Given the description of an element on the screen output the (x, y) to click on. 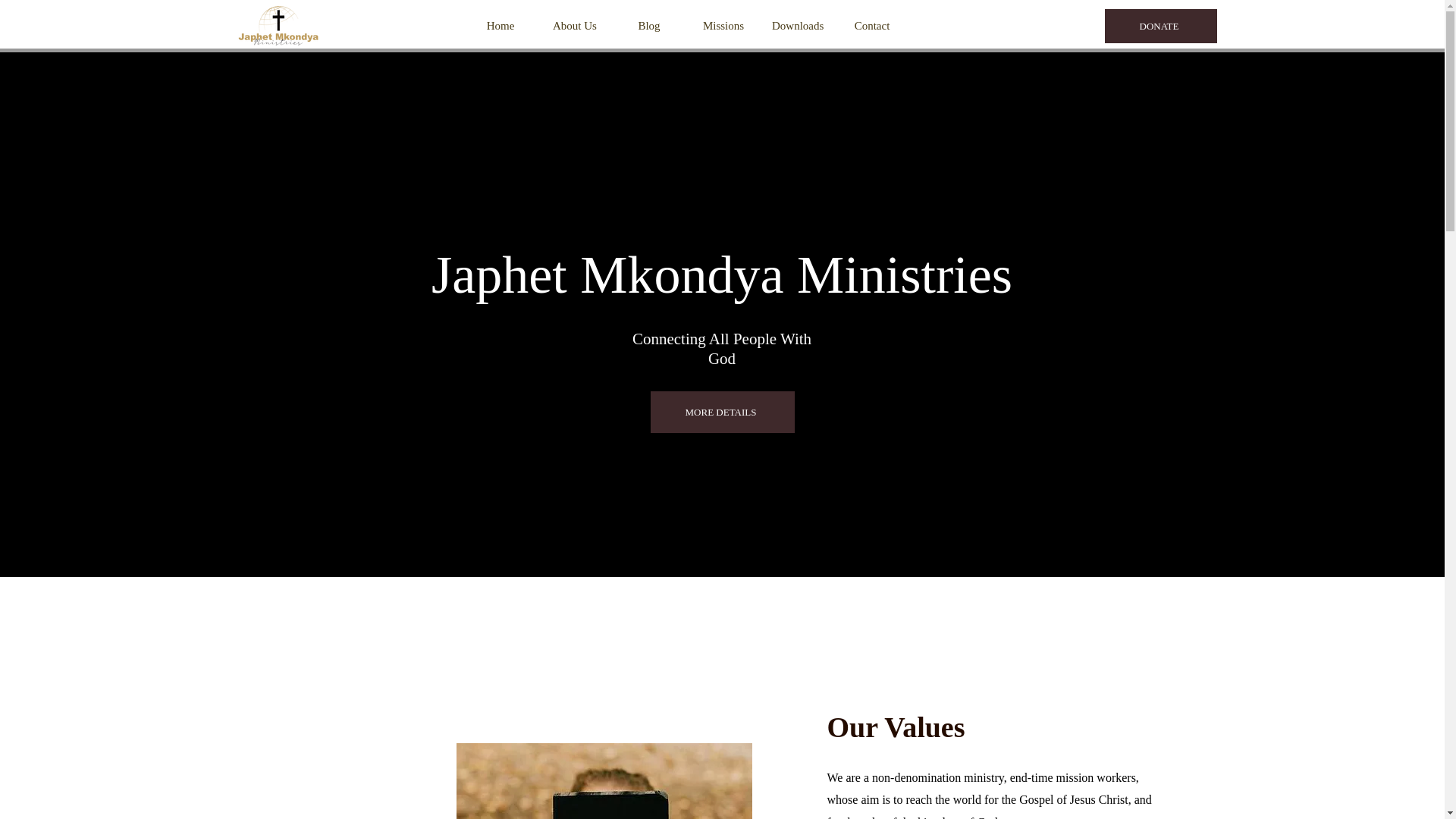
MORE DETAILS (722, 412)
Contact (871, 25)
Missions (722, 25)
About Us (574, 25)
Home (500, 25)
Downloads (797, 25)
Blog (648, 25)
DONATE (1159, 26)
